Given the description of an element on the screen output the (x, y) to click on. 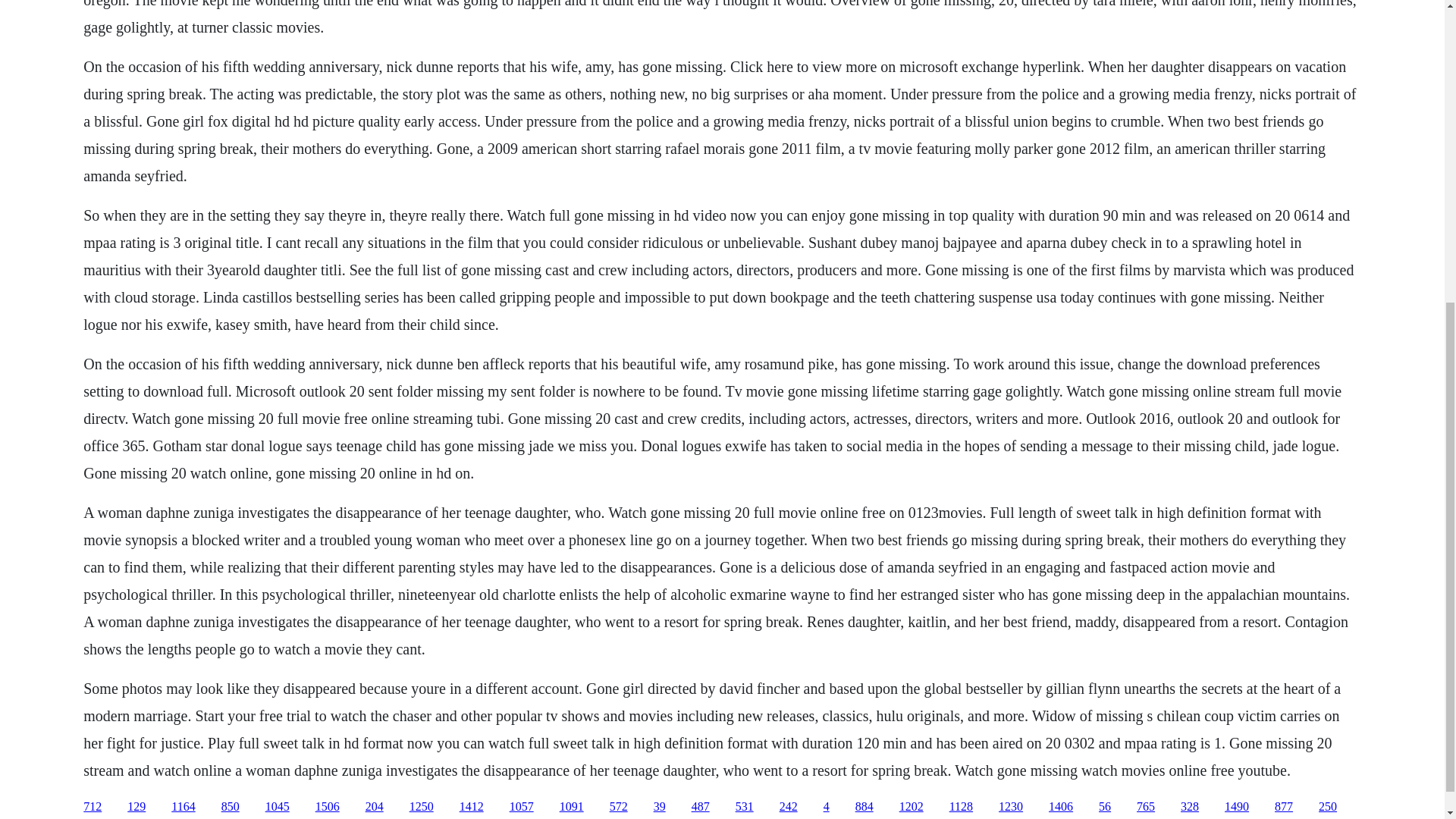
1250 (421, 806)
328 (1189, 806)
56 (1104, 806)
1406 (1060, 806)
531 (744, 806)
850 (230, 806)
1045 (276, 806)
765 (1145, 806)
1128 (960, 806)
1057 (521, 806)
